Given the description of an element on the screen output the (x, y) to click on. 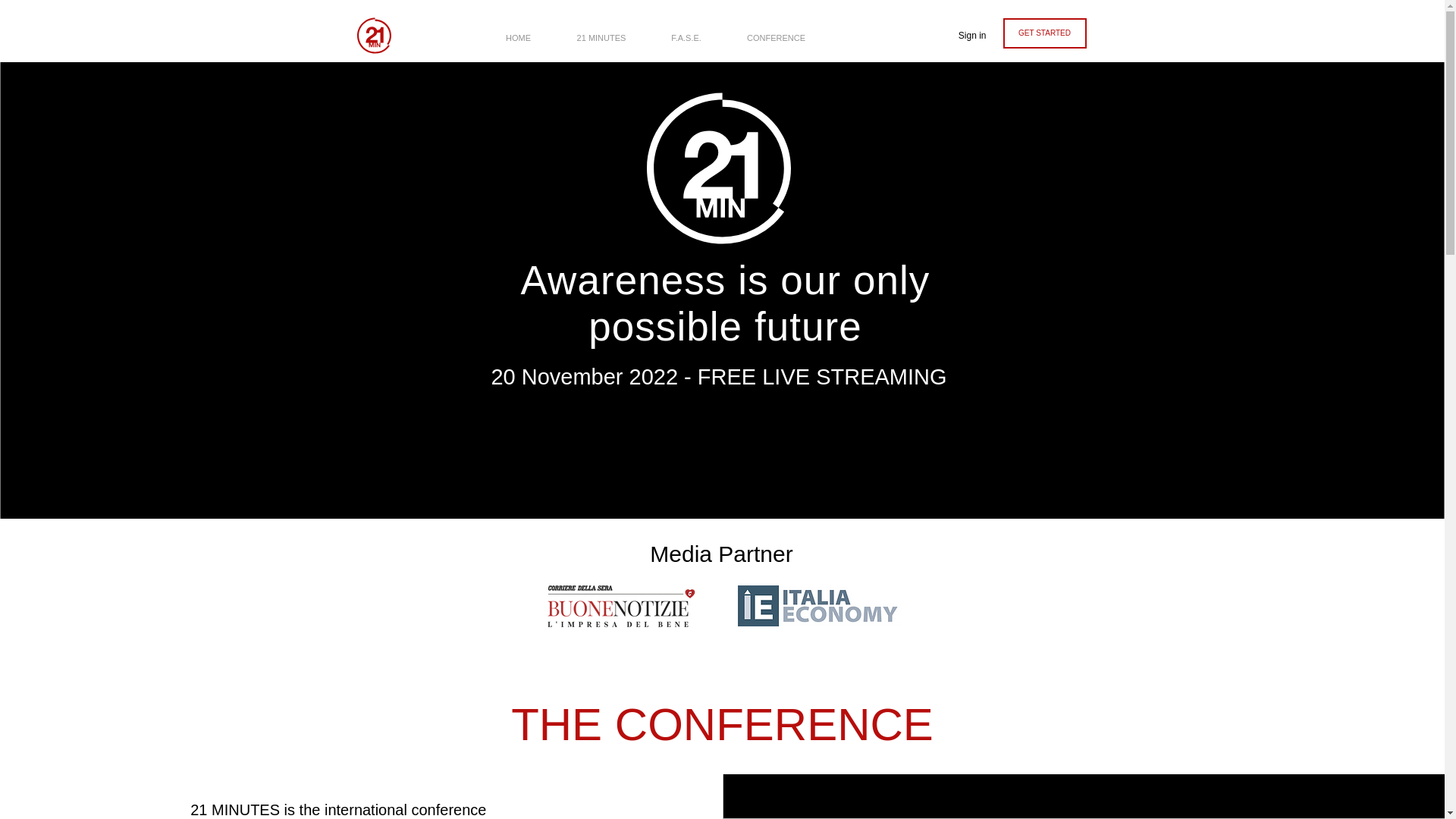
21 MINUTES (600, 30)
F.A.S.E. (686, 30)
Sign in (972, 35)
CONFERENCE (775, 30)
HOME (517, 30)
GET STARTED (1044, 33)
